Given the description of an element on the screen output the (x, y) to click on. 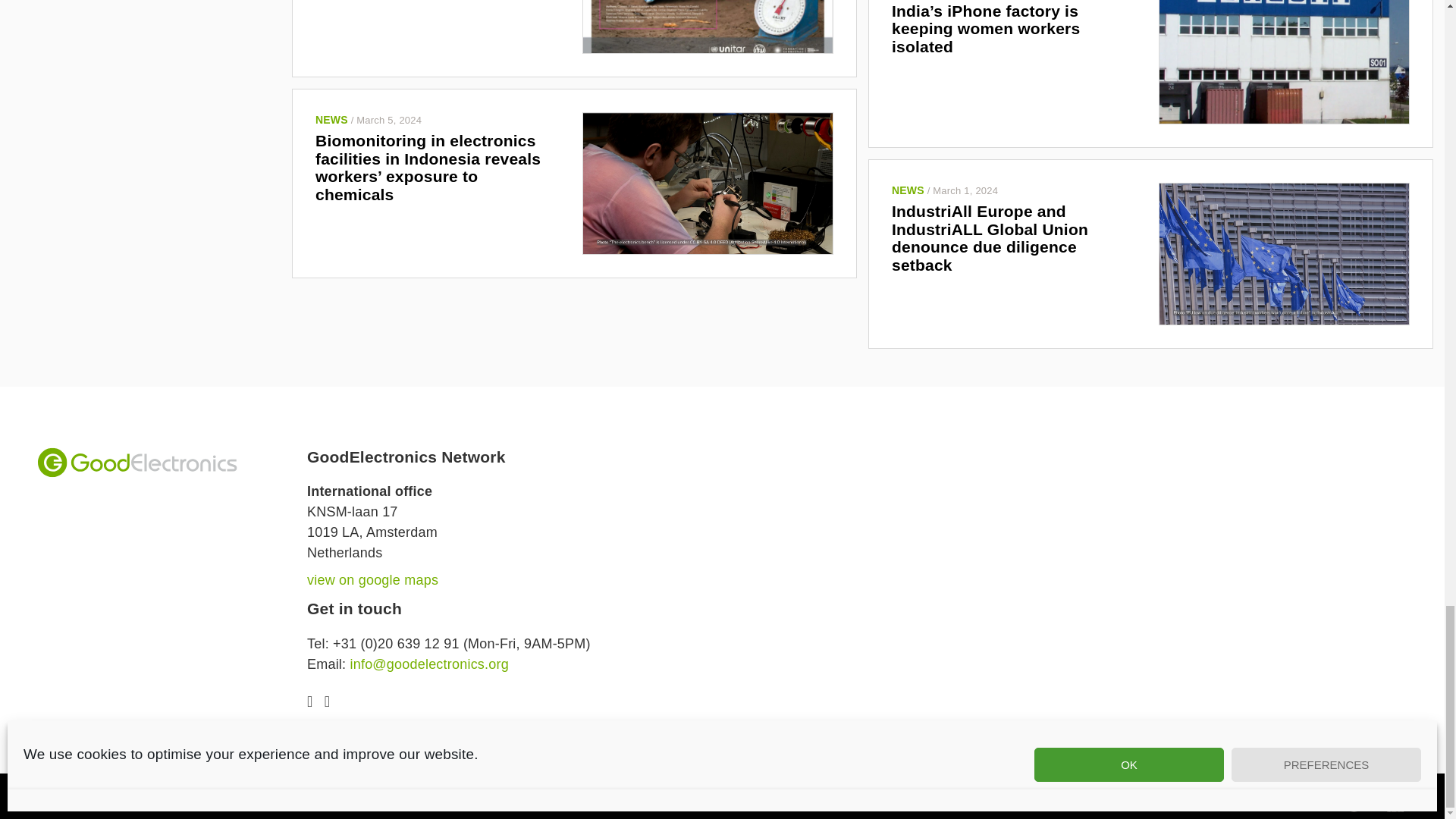
ISO (1353, 800)
GoodElectronics (137, 462)
ANBI (1309, 800)
Partos (1395, 800)
